Given the description of an element on the screen output the (x, y) to click on. 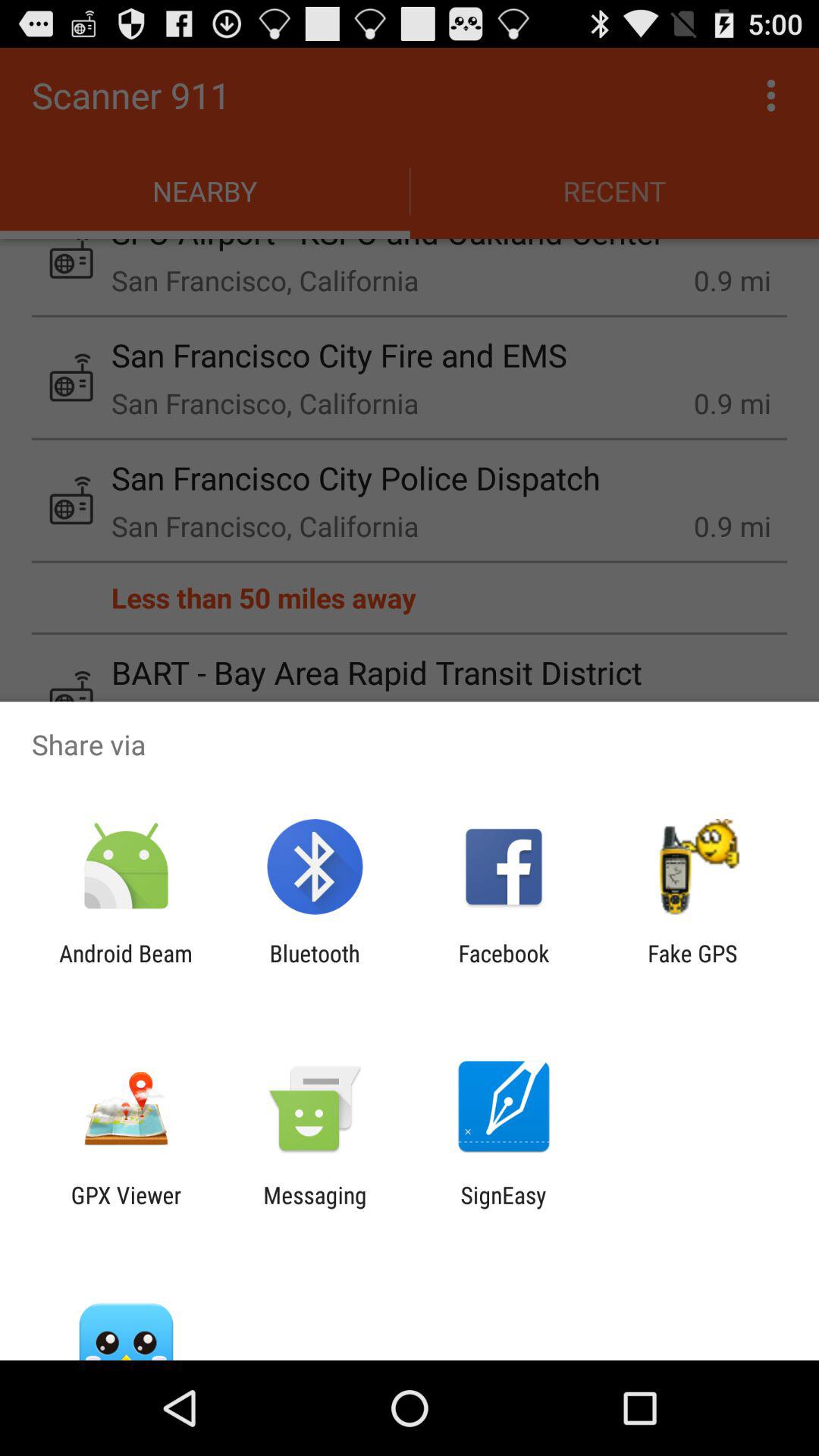
open the icon next to the facebook icon (692, 966)
